Given the description of an element on the screen output the (x, y) to click on. 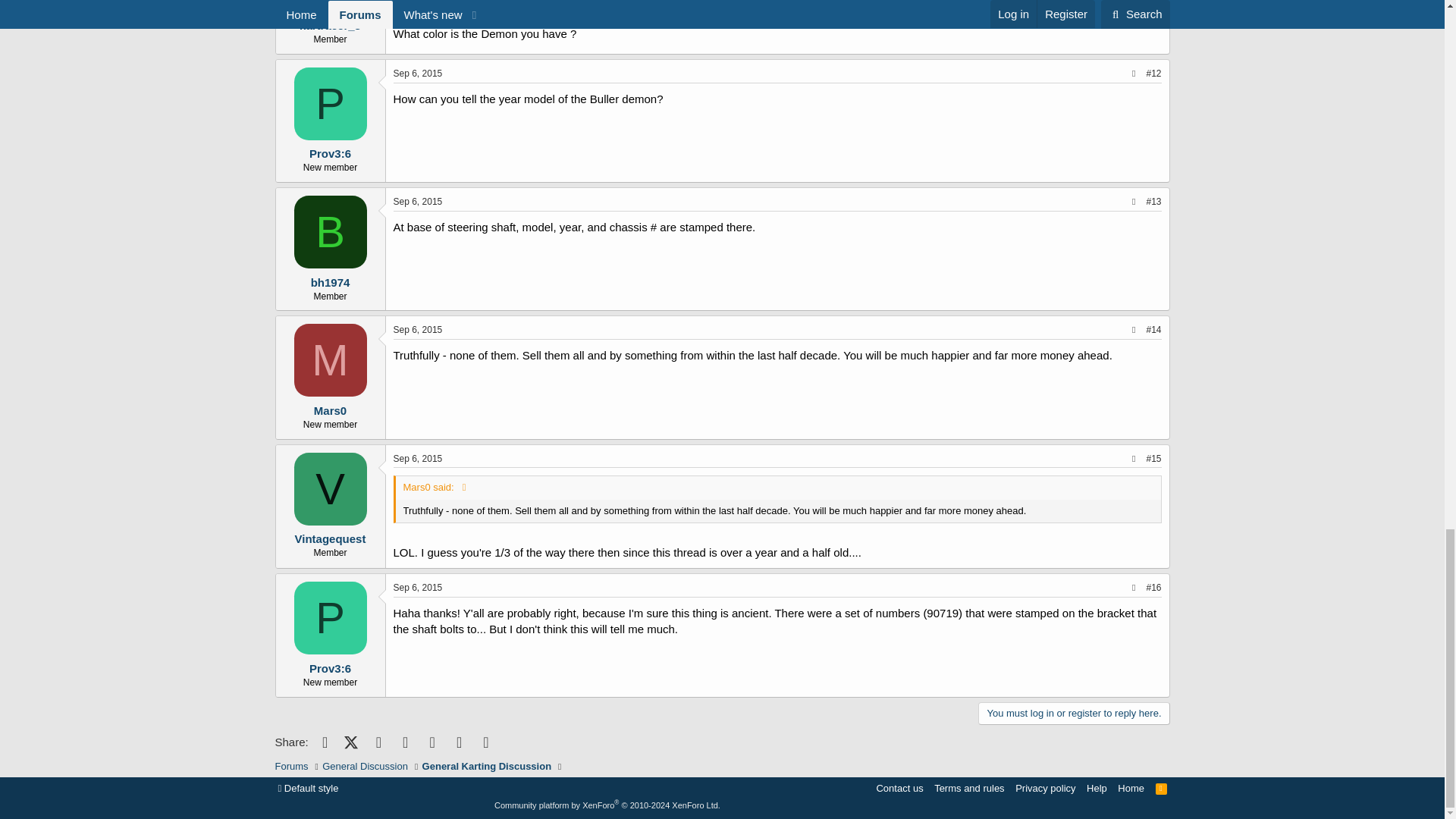
Sep 6, 2015 at 5:37 AM (417, 201)
Sep 6, 2015 at 2:16 PM (417, 329)
Sep 6, 2015 at 12:00 AM (417, 72)
